Given the description of an element on the screen output the (x, y) to click on. 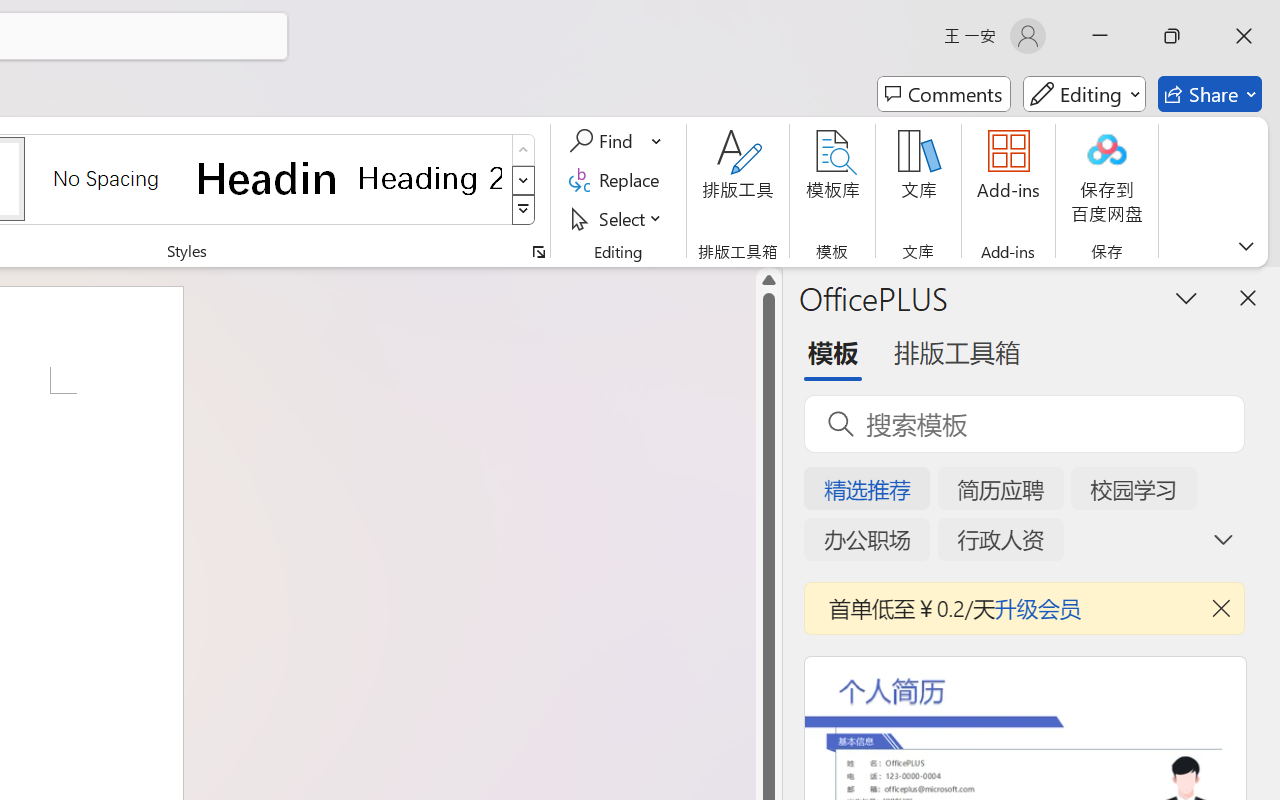
More Options (657, 141)
Close (1244, 36)
Find (604, 141)
Select (618, 218)
Row Down (523, 180)
Comments (943, 94)
Find (616, 141)
Class: NetUIImage (523, 210)
Row up (523, 150)
Line up (769, 279)
